Given the description of an element on the screen output the (x, y) to click on. 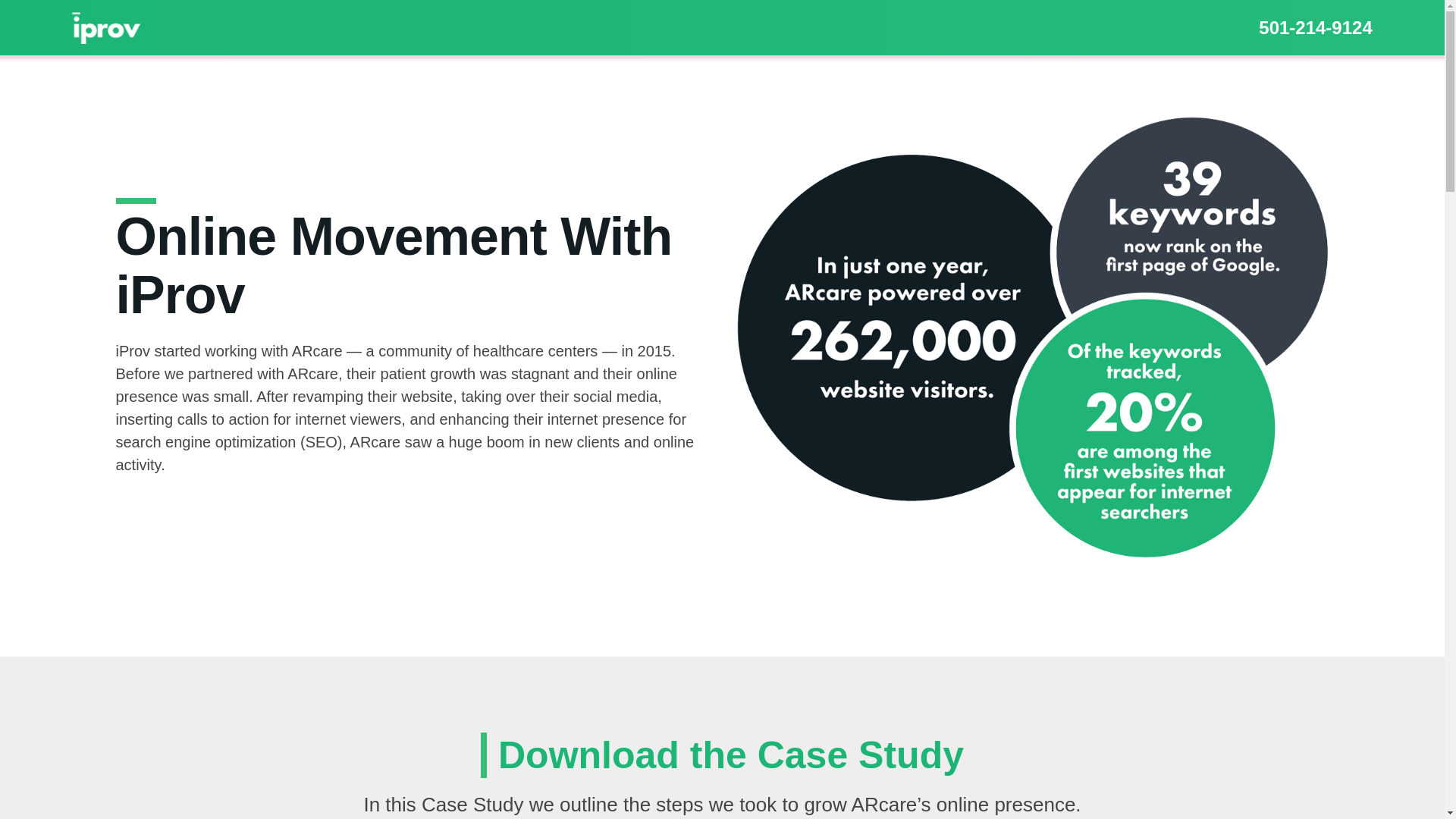
501-214-9124 (1315, 27)
